Given the description of an element on the screen output the (x, y) to click on. 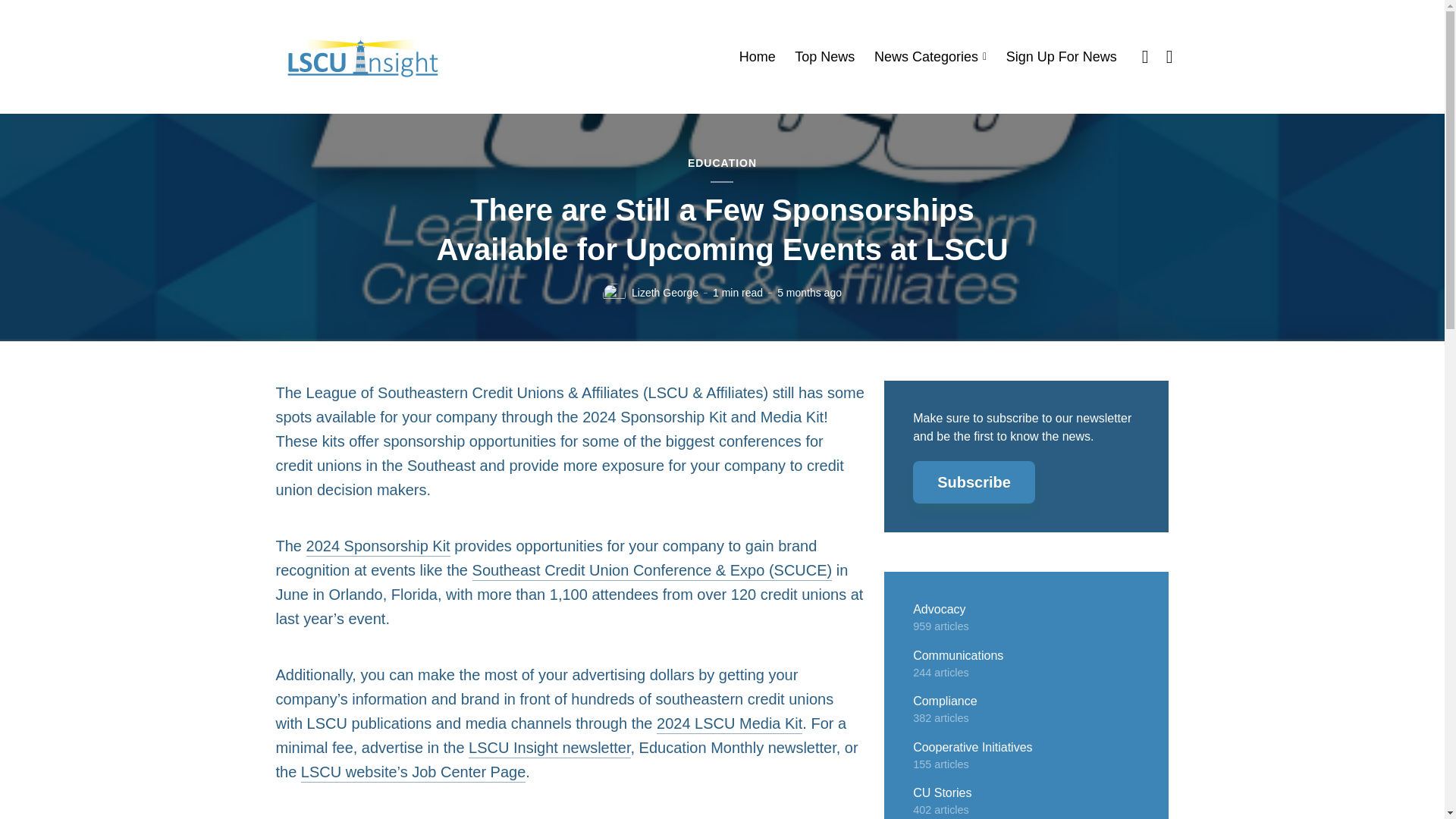
News Categories (931, 56)
Sign Up For News (1061, 56)
EDUCATION (722, 163)
Top News (824, 56)
Lizeth George (664, 292)
Home (757, 56)
